Given the description of an element on the screen output the (x, y) to click on. 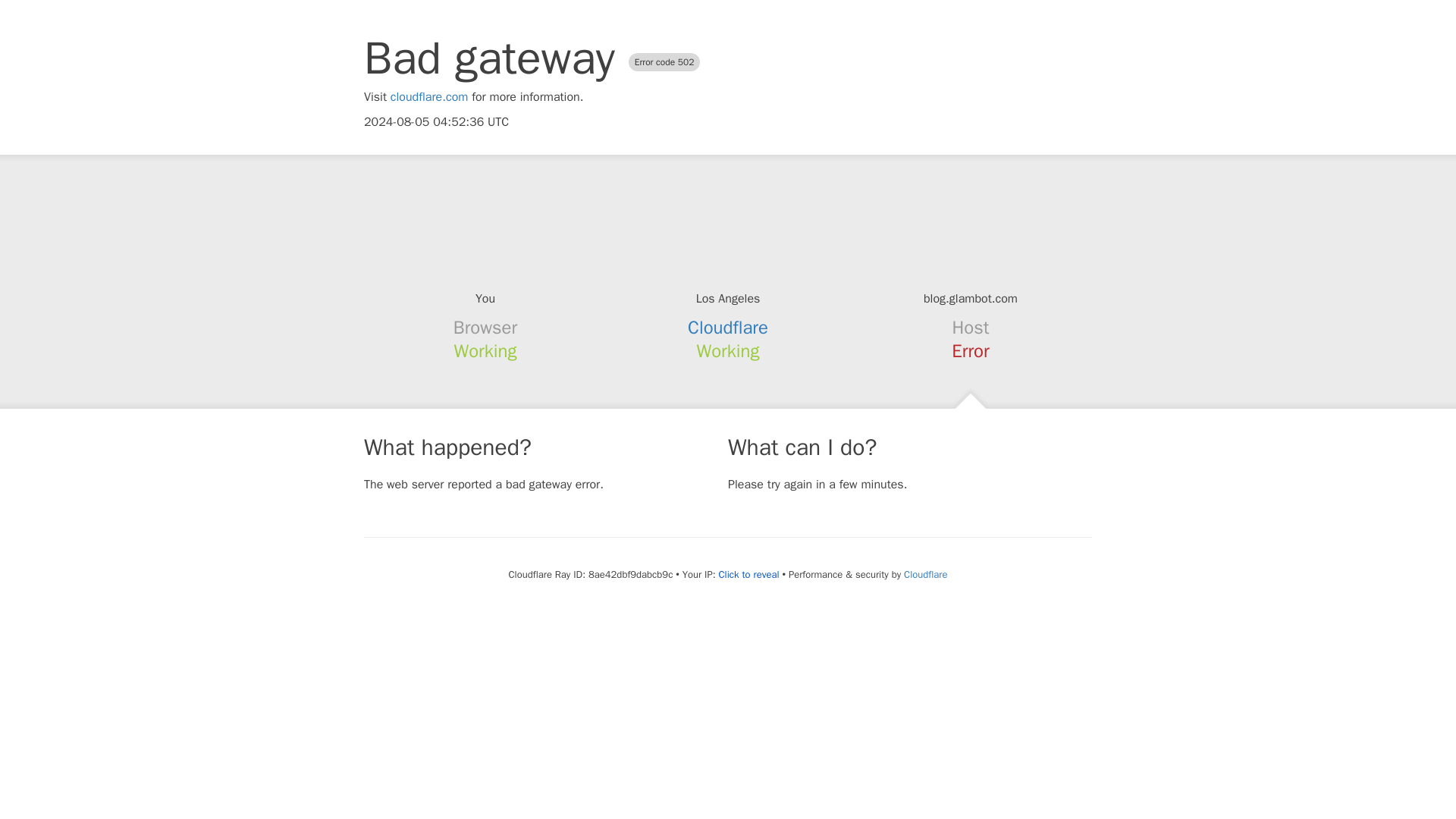
Cloudflare (727, 327)
Cloudflare (925, 574)
Click to reveal (748, 574)
cloudflare.com (429, 96)
